Given the description of an element on the screen output the (x, y) to click on. 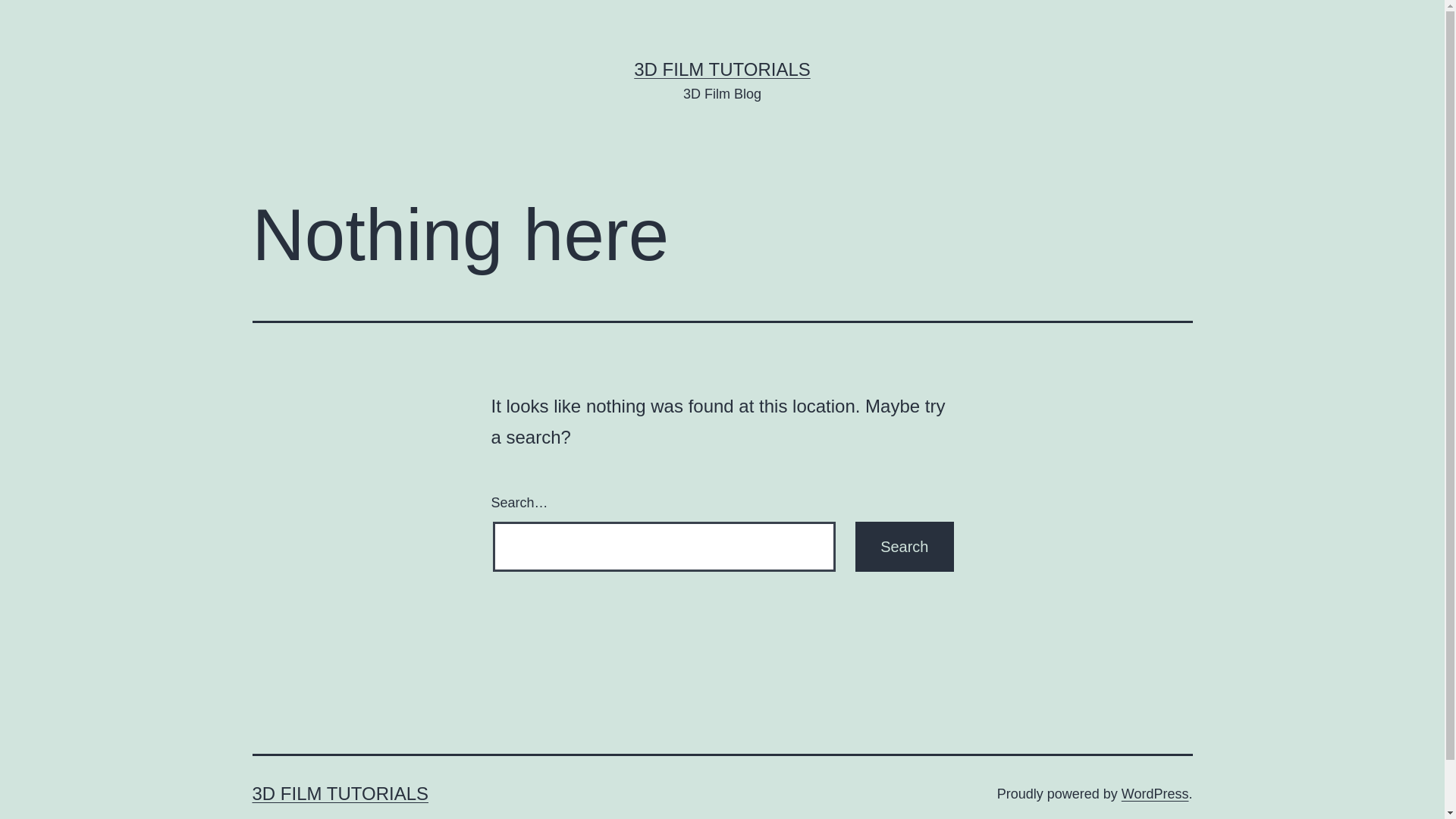
3D FILM TUTORIALS Element type: text (721, 69)
3D FILM TUTORIALS Element type: text (339, 793)
WordPress Element type: text (1155, 793)
Search Element type: text (904, 546)
